Given the description of an element on the screen output the (x, y) to click on. 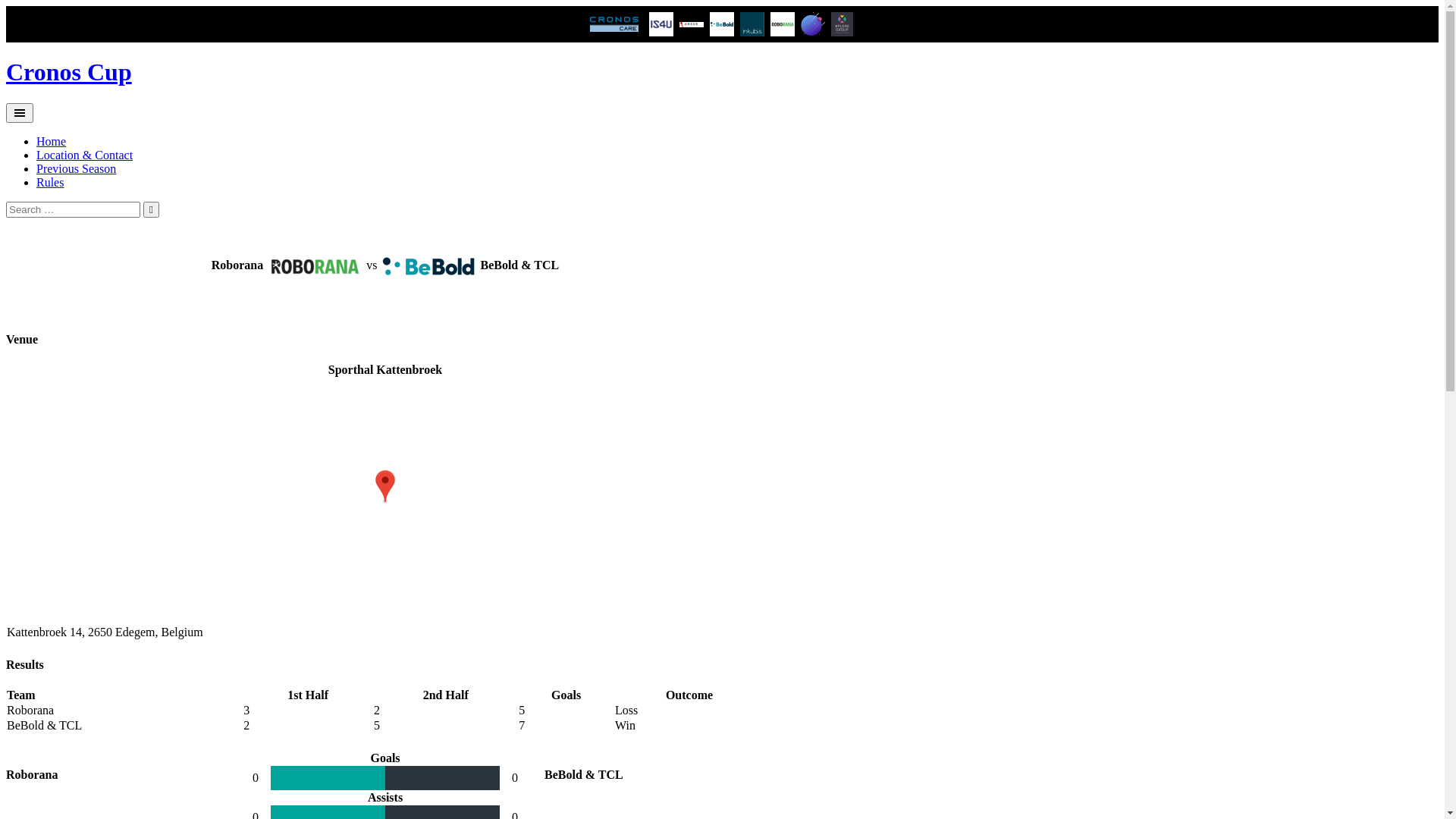
BeBold & TCL Element type: hover (721, 24)
50% Element type: hover (327, 777)
Cronos Cup Element type: text (68, 71)
Sporting Hyperdrive Element type: hover (812, 24)
Xplore Group Element type: hover (842, 24)
Roborana Element type: hover (782, 24)
Rules Element type: text (49, 181)
50% Element type: hover (384, 777)
Acen Element type: hover (661, 24)
Location & Contact Element type: text (84, 154)
Search Element type: hover (151, 209)
Cronos Cup Element type: hover (613, 24)
Previous Season Element type: text (76, 168)
Arxus Element type: hover (691, 23)
Home Element type: text (50, 140)
Skip to content Element type: text (5, 57)
Inkubis (iAdvise) Element type: hover (752, 24)
